Given the description of an element on the screen output the (x, y) to click on. 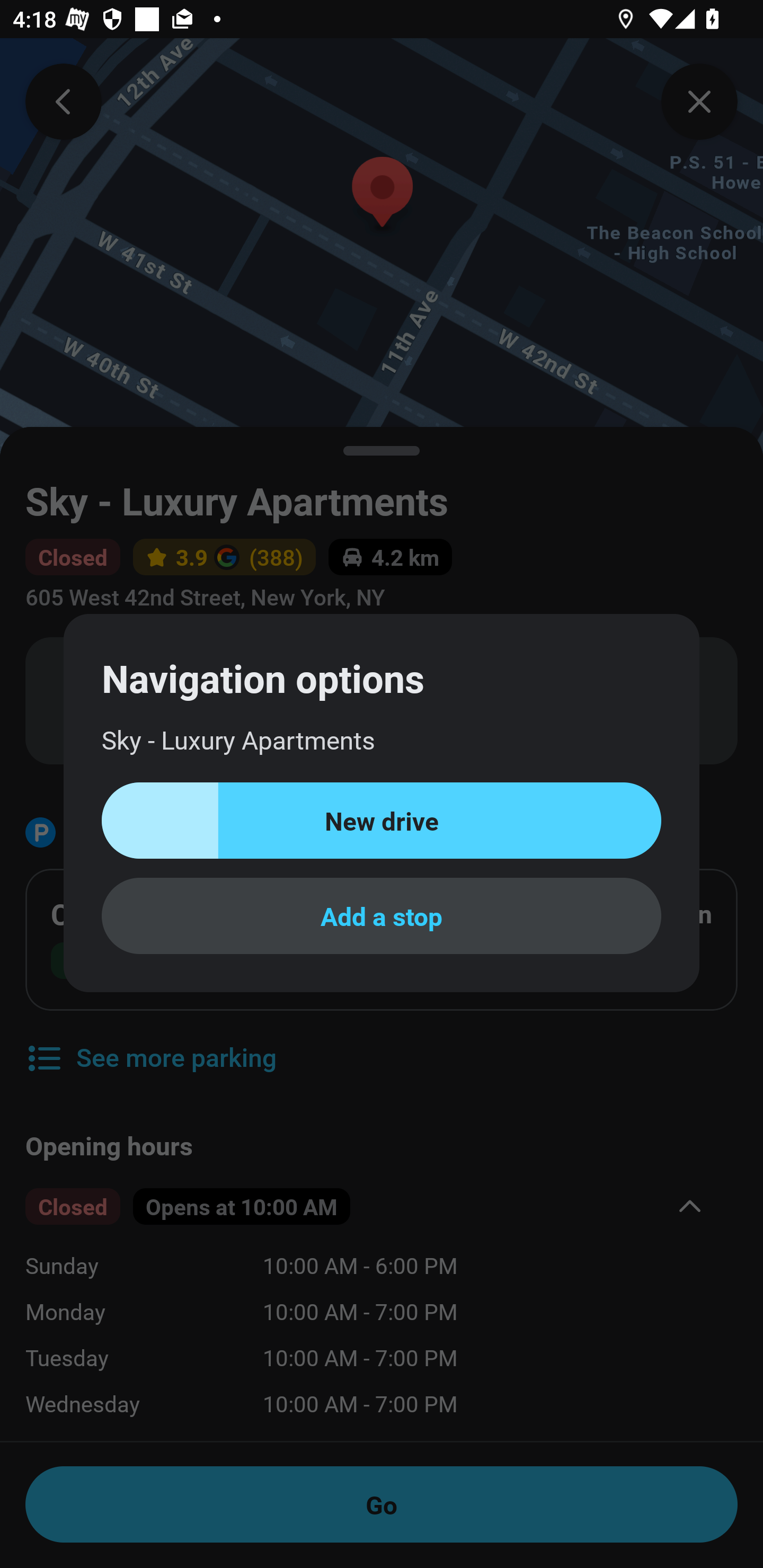
0.2051 New drive (381, 820)
Add a stop (381, 915)
